Given the description of an element on the screen output the (x, y) to click on. 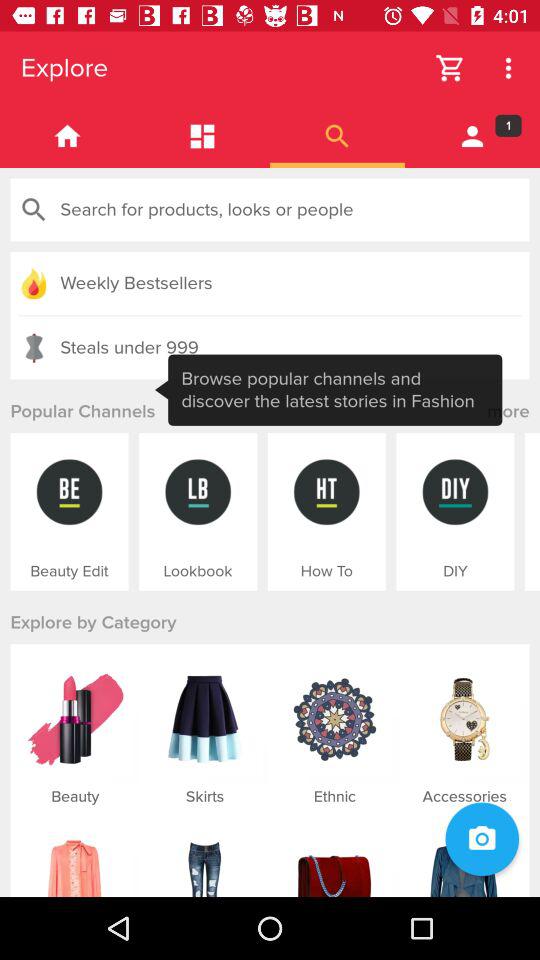
add to shopping cart (450, 68)
